Given the description of an element on the screen output the (x, y) to click on. 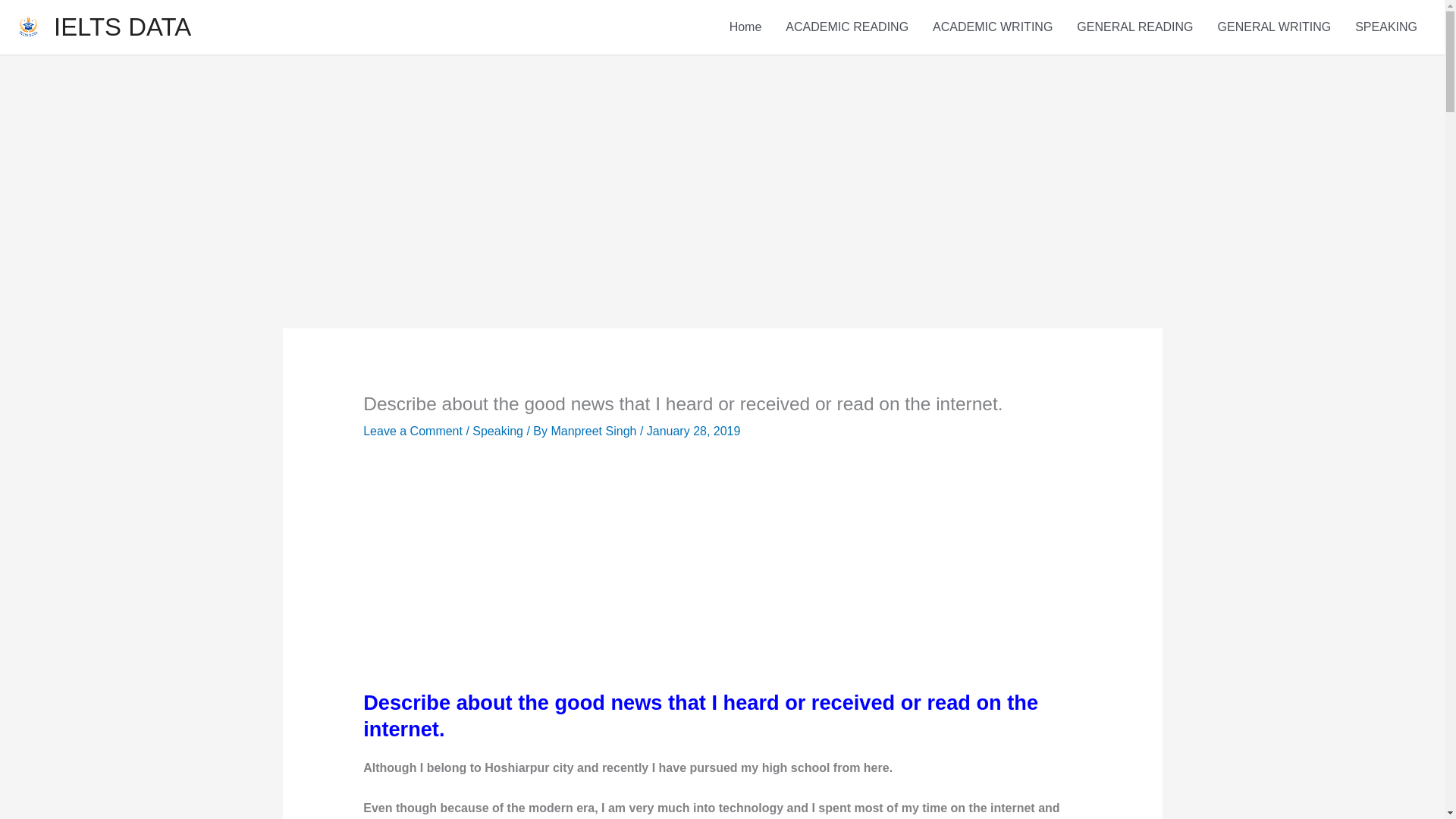
ACADEMIC WRITING (992, 27)
ACADEMIC READING (846, 27)
Home (745, 27)
IELTS DATA (121, 26)
SPEAKING (1385, 27)
Manpreet Singh (594, 431)
View all posts by Manpreet Singh (594, 431)
Leave a Comment (412, 431)
GENERAL WRITING (1274, 27)
GENERAL READING (1134, 27)
